Given the description of an element on the screen output the (x, y) to click on. 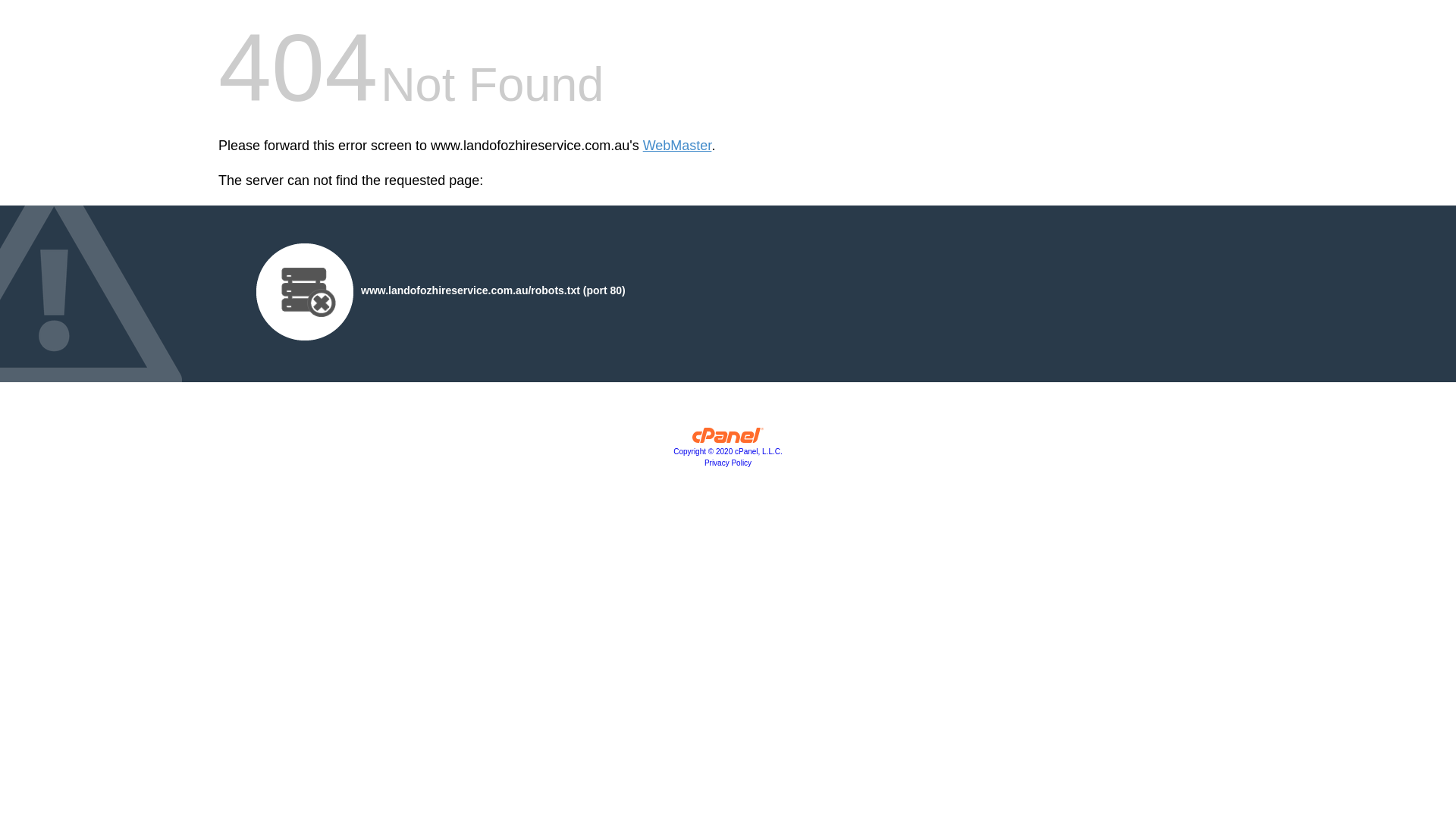
WebMaster Element type: text (677, 145)
cPanel, Inc. Element type: hover (728, 439)
Privacy Policy Element type: text (727, 462)
